Given the description of an element on the screen output the (x, y) to click on. 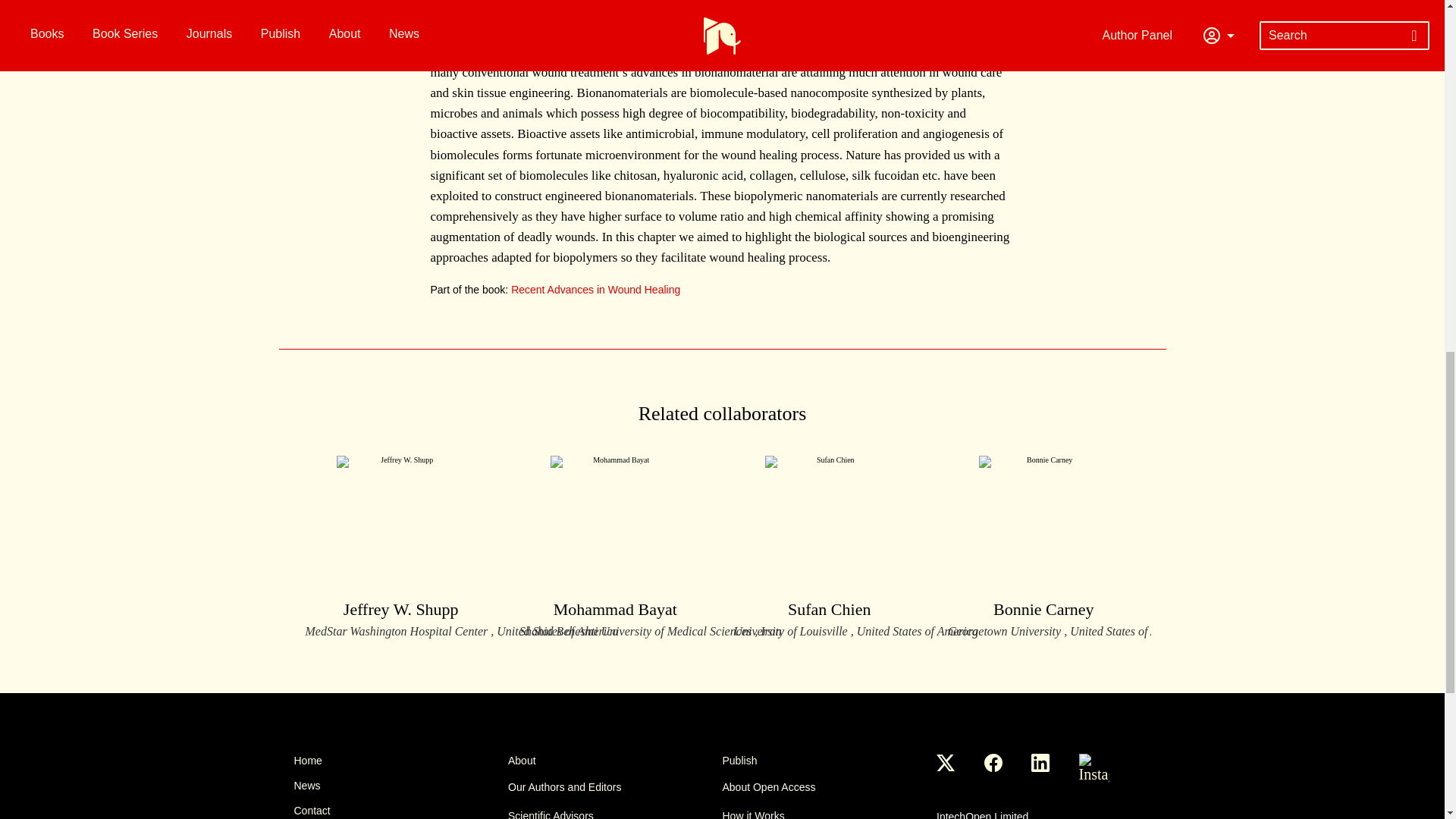
Recent Advances in Wound Healing (595, 289)
Contact (401, 810)
News (401, 785)
Home (401, 760)
About (615, 760)
Our Authors and Editors (615, 786)
